Given the description of an element on the screen output the (x, y) to click on. 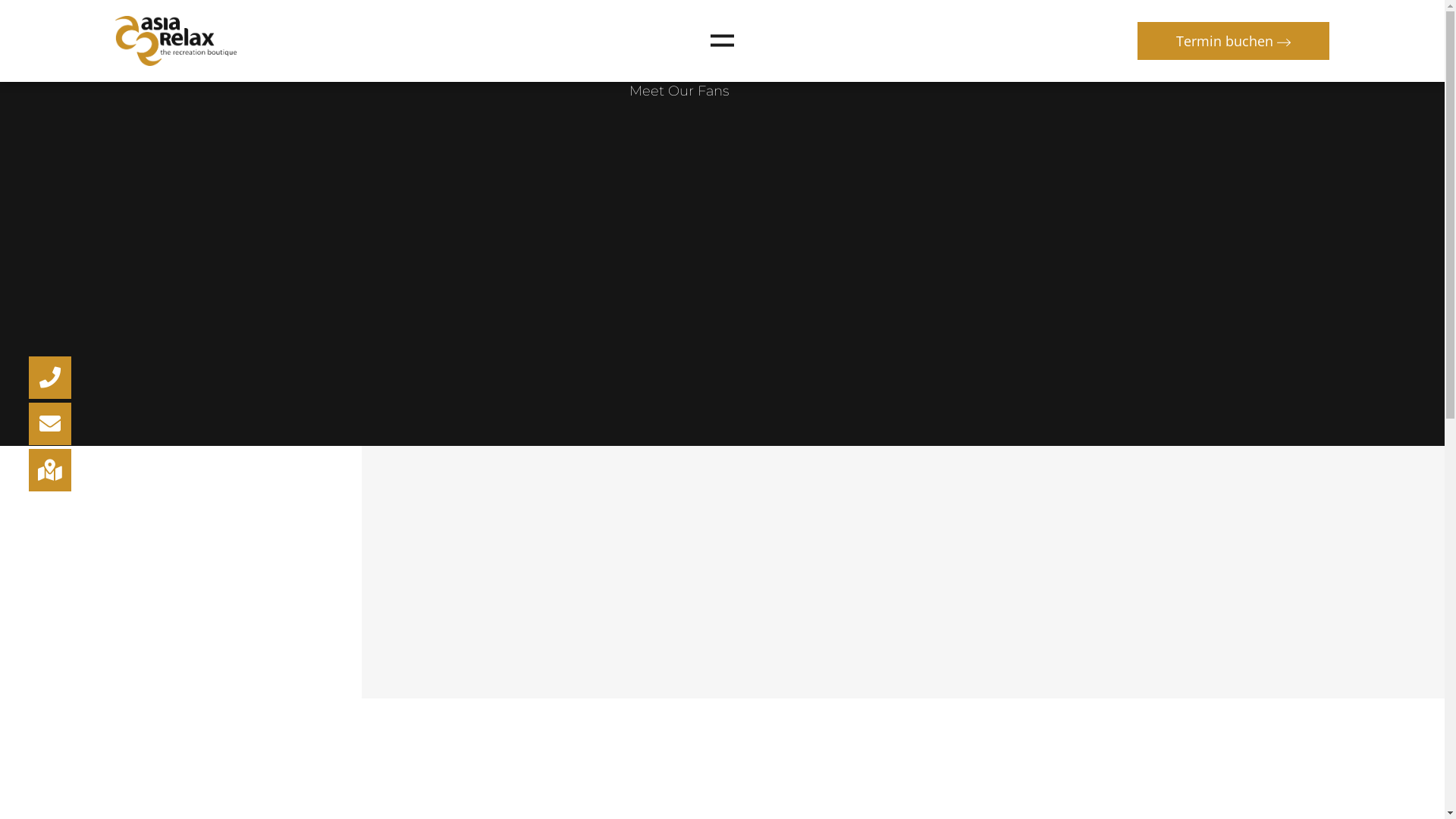
Termin buchen Element type: text (1233, 40)
